Given the description of an element on the screen output the (x, y) to click on. 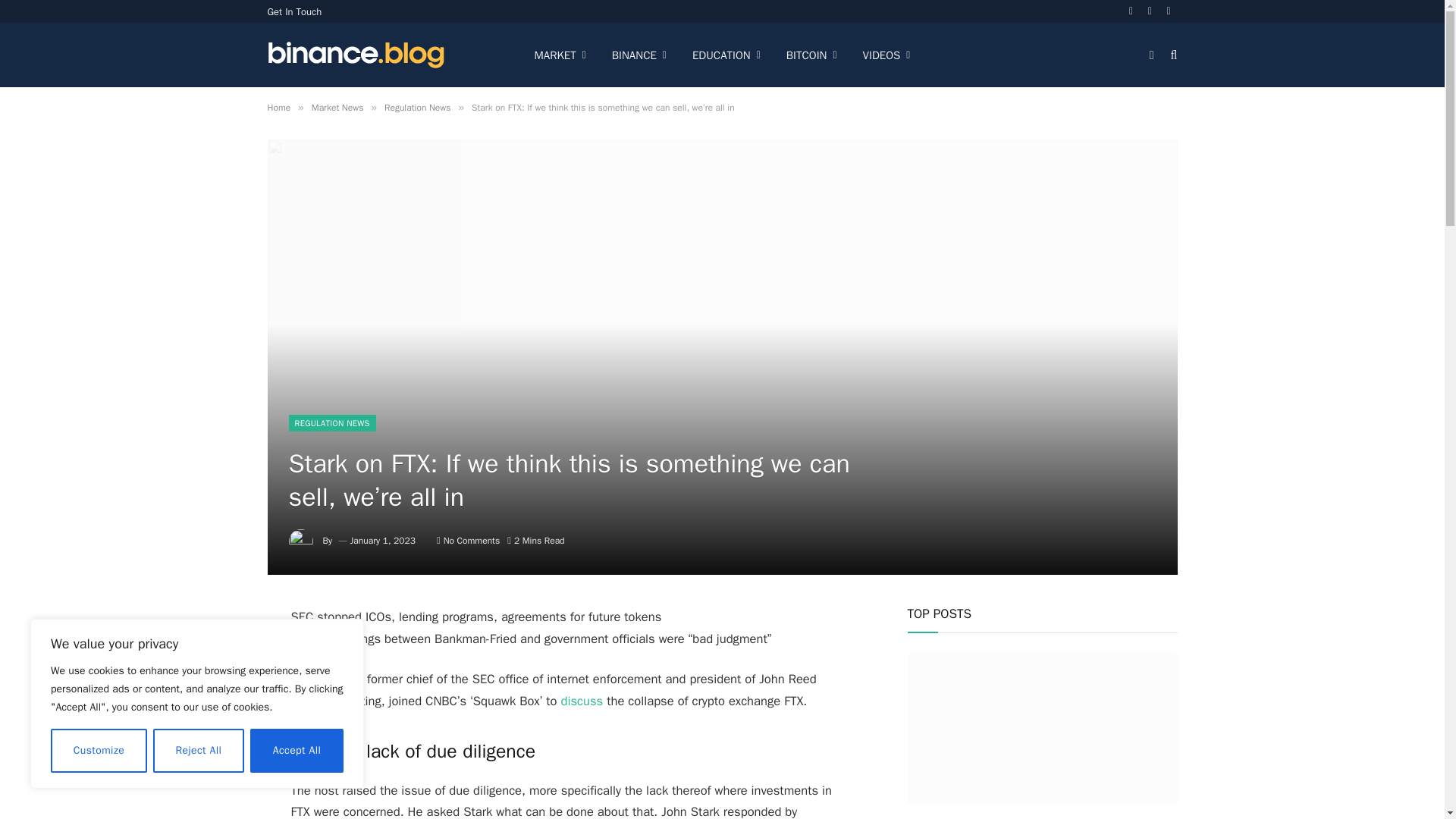
Get In Touch (294, 11)
Accept All (296, 750)
MARKET (559, 54)
Customize (98, 750)
BINANCE (638, 54)
Reject All (198, 750)
